Given the description of an element on the screen output the (x, y) to click on. 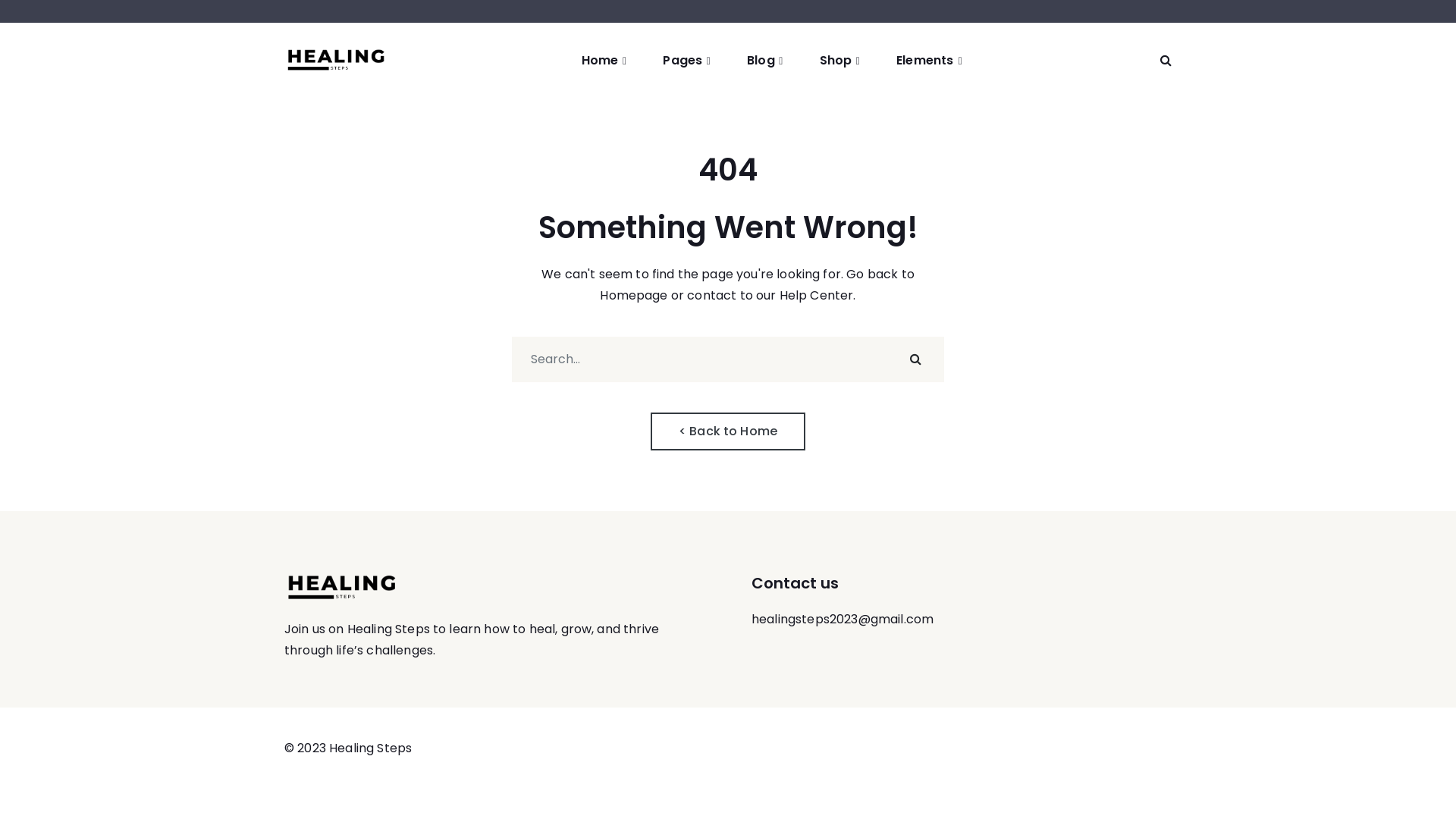
Pages Element type: text (686, 61)
Shop Element type: text (839, 61)
Home Element type: text (604, 61)
Blog Element type: text (764, 61)
Elements Element type: text (929, 61)
< Back to Home Element type: text (728, 431)
